Given the description of an element on the screen output the (x, y) to click on. 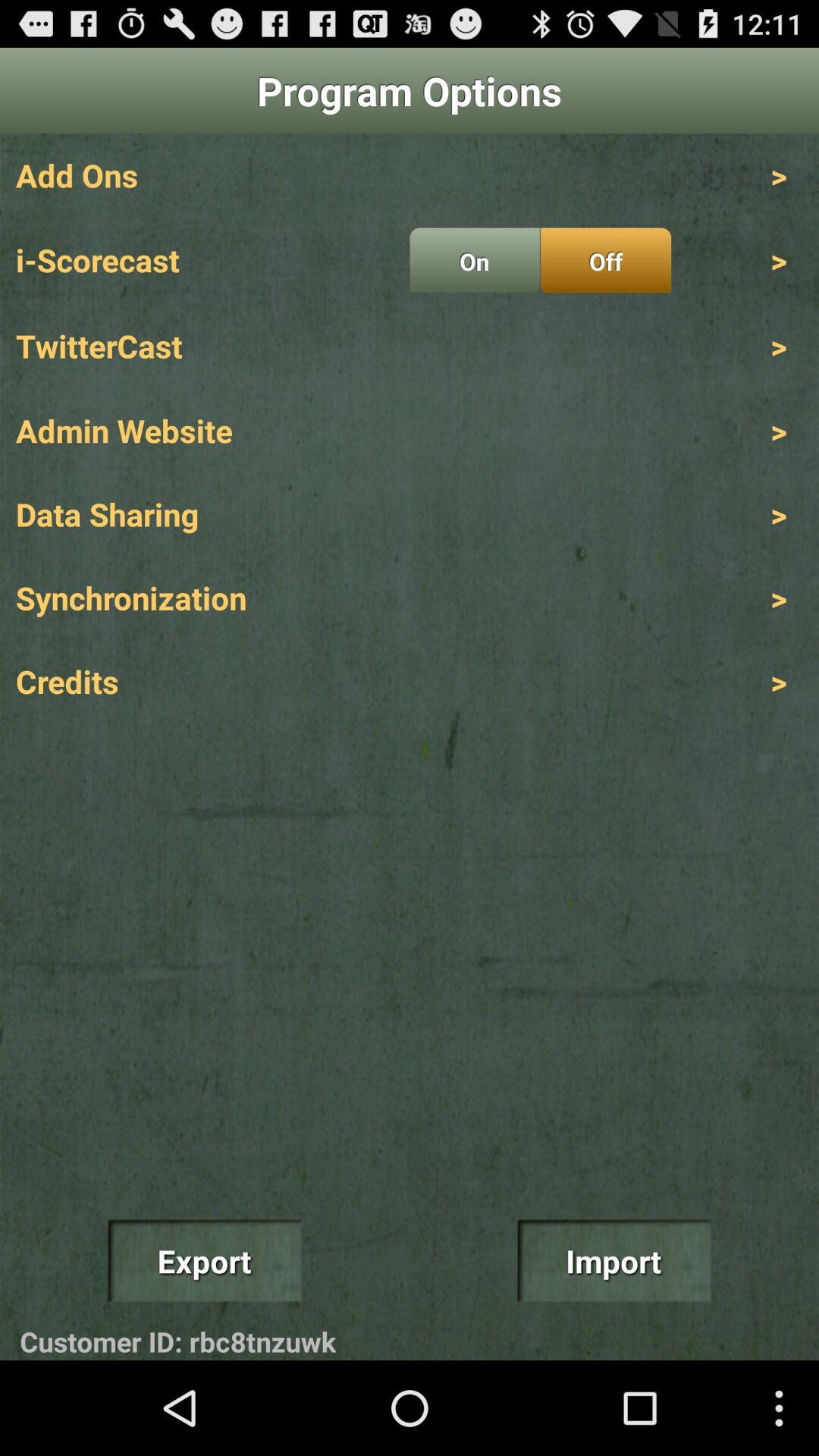
turn on the icon next to > (605, 259)
